Given the description of an element on the screen output the (x, y) to click on. 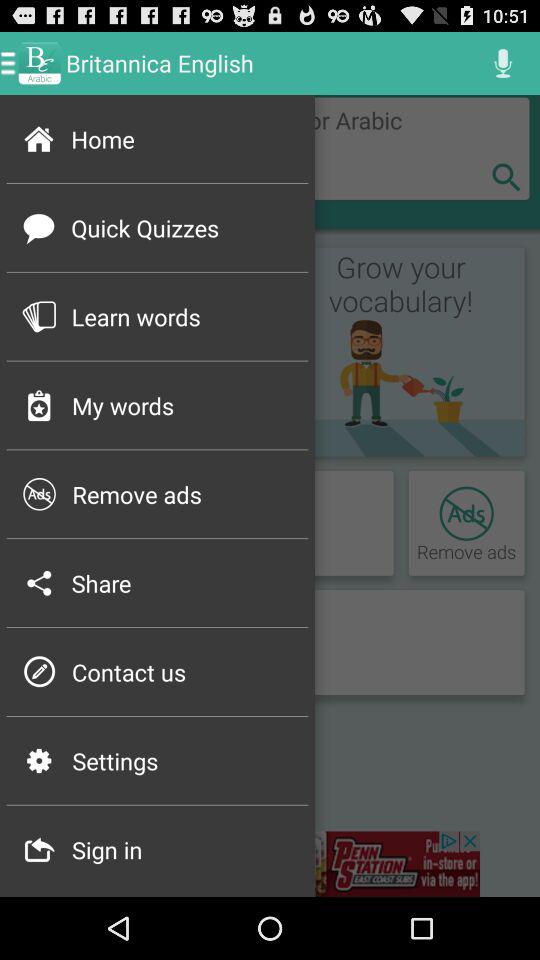
choose item next to the p (183, 672)
